Given the description of an element on the screen output the (x, y) to click on. 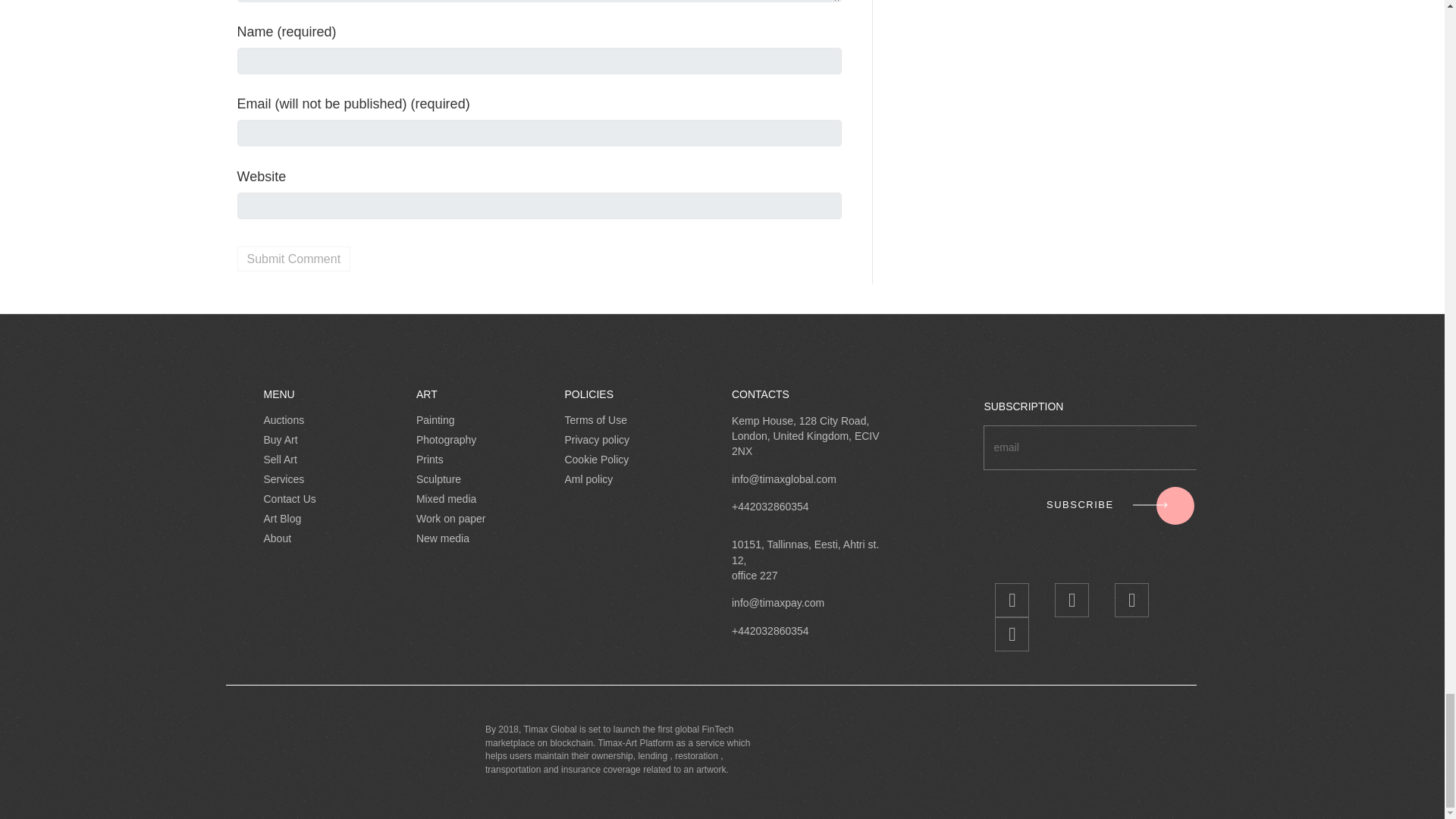
Submit Comment (292, 258)
